Given the description of an element on the screen output the (x, y) to click on. 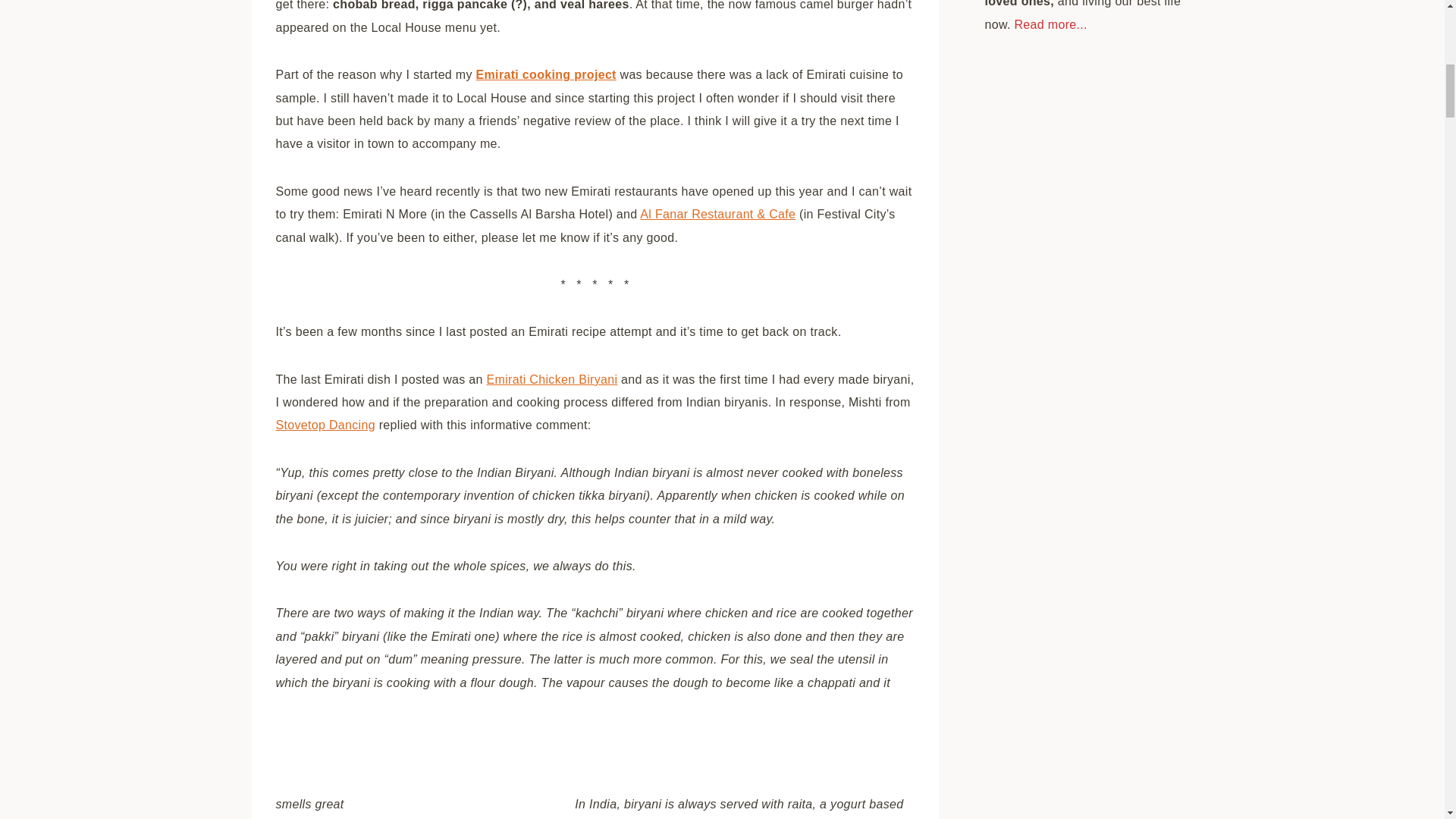
Stovetop Dancing (325, 424)
Emirati Chicken Biryani (551, 379)
Emirati cooking project (545, 74)
